Given the description of an element on the screen output the (x, y) to click on. 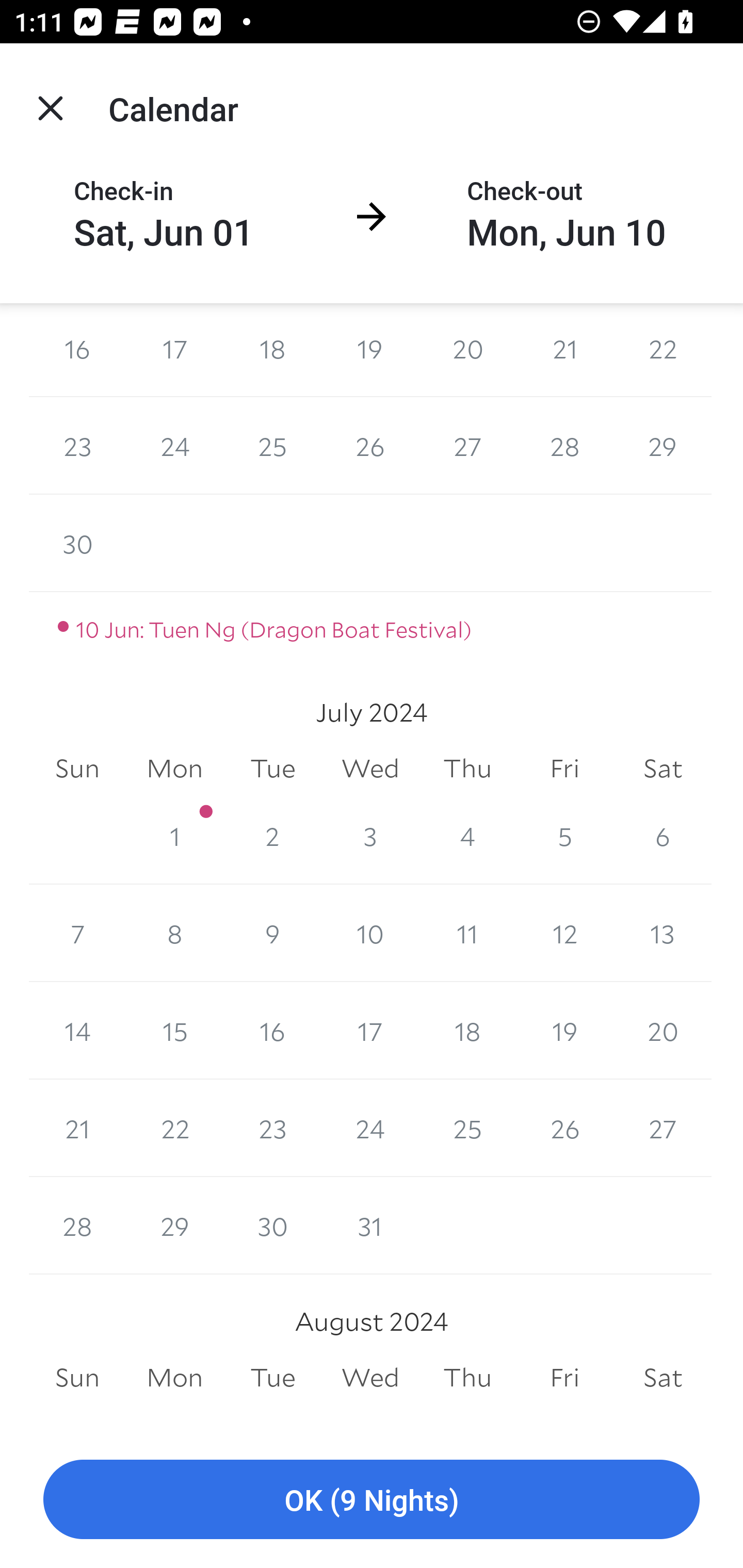
16 16 June 2024 (77, 349)
17 17 June 2024 (174, 349)
18 18 June 2024 (272, 349)
19 19 June 2024 (370, 349)
20 20 June 2024 (467, 349)
21 21 June 2024 (564, 349)
22 22 June 2024 (662, 349)
23 23 June 2024 (77, 444)
24 24 June 2024 (174, 444)
25 25 June 2024 (272, 444)
26 26 June 2024 (370, 444)
27 27 June 2024 (467, 444)
28 28 June 2024 (564, 444)
29 29 June 2024 (662, 444)
30 30 June 2024 (77, 542)
Sun (77, 768)
Mon (174, 768)
Tue (272, 768)
Wed (370, 768)
Thu (467, 768)
Fri (564, 768)
Sat (662, 768)
1 1 July 2024 (174, 835)
2 2 July 2024 (272, 835)
3 3 July 2024 (370, 835)
4 4 July 2024 (467, 835)
5 5 July 2024 (564, 835)
6 6 July 2024 (662, 835)
7 7 July 2024 (77, 932)
8 8 July 2024 (174, 932)
9 9 July 2024 (272, 932)
10 10 July 2024 (370, 932)
11 11 July 2024 (467, 932)
12 12 July 2024 (564, 932)
13 13 July 2024 (662, 932)
14 14 July 2024 (77, 1029)
15 15 July 2024 (174, 1029)
16 16 July 2024 (272, 1029)
17 17 July 2024 (370, 1029)
18 18 July 2024 (467, 1029)
19 19 July 2024 (564, 1029)
20 20 July 2024 (662, 1029)
21 21 July 2024 (77, 1127)
22 22 July 2024 (174, 1127)
23 23 July 2024 (272, 1127)
24 24 July 2024 (370, 1127)
25 25 July 2024 (467, 1127)
26 26 July 2024 (564, 1127)
27 27 July 2024 (662, 1127)
28 28 July 2024 (77, 1225)
29 29 July 2024 (174, 1225)
30 30 July 2024 (272, 1225)
31 31 July 2024 (370, 1225)
Sun (77, 1377)
Mon (174, 1377)
Tue (272, 1377)
Wed (370, 1377)
Thu (467, 1377)
Fri (564, 1377)
Sat (662, 1377)
OK (9 Nights) (371, 1499)
